Given the description of an element on the screen output the (x, y) to click on. 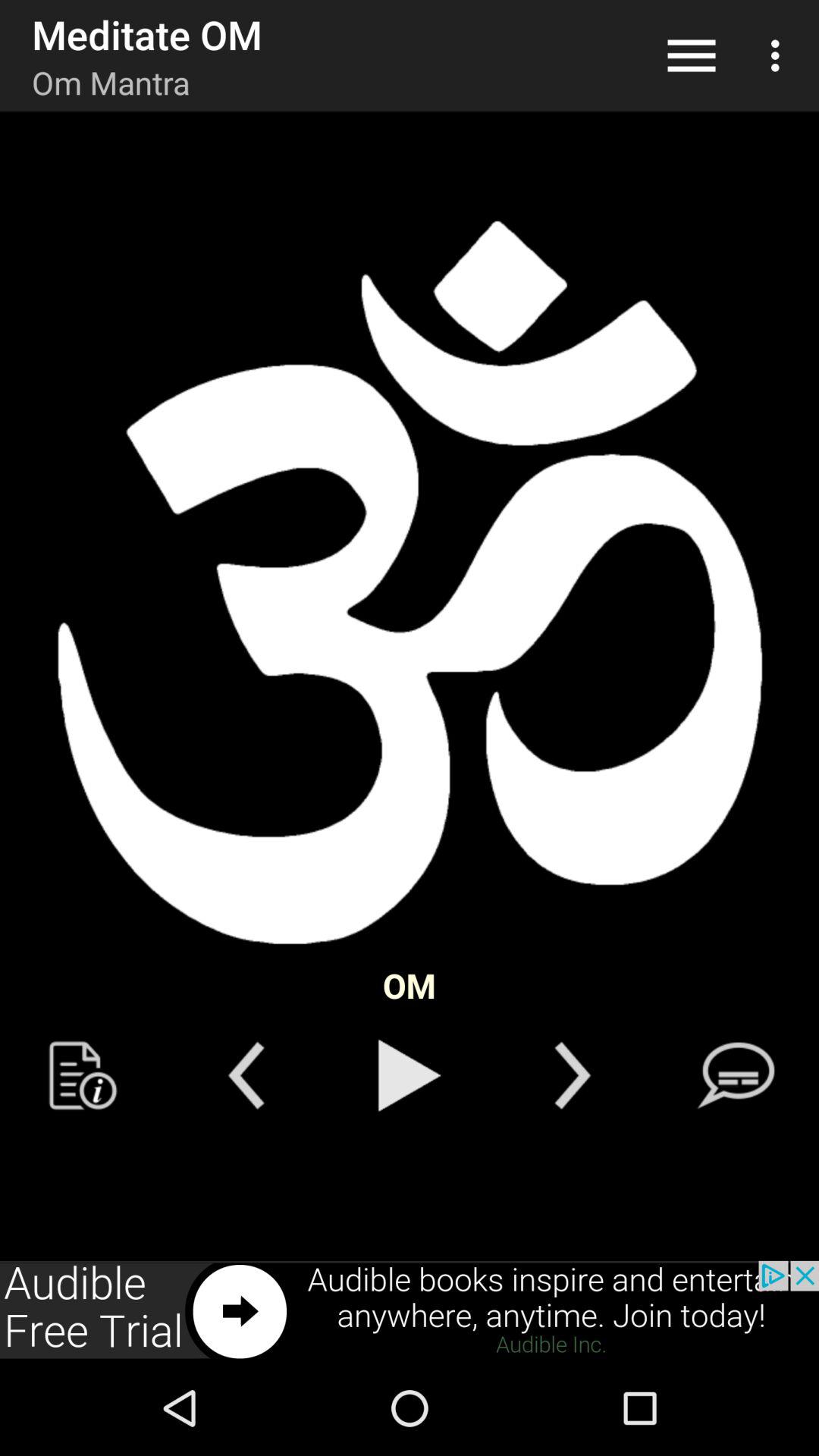
back button (572, 1075)
